Given the description of an element on the screen output the (x, y) to click on. 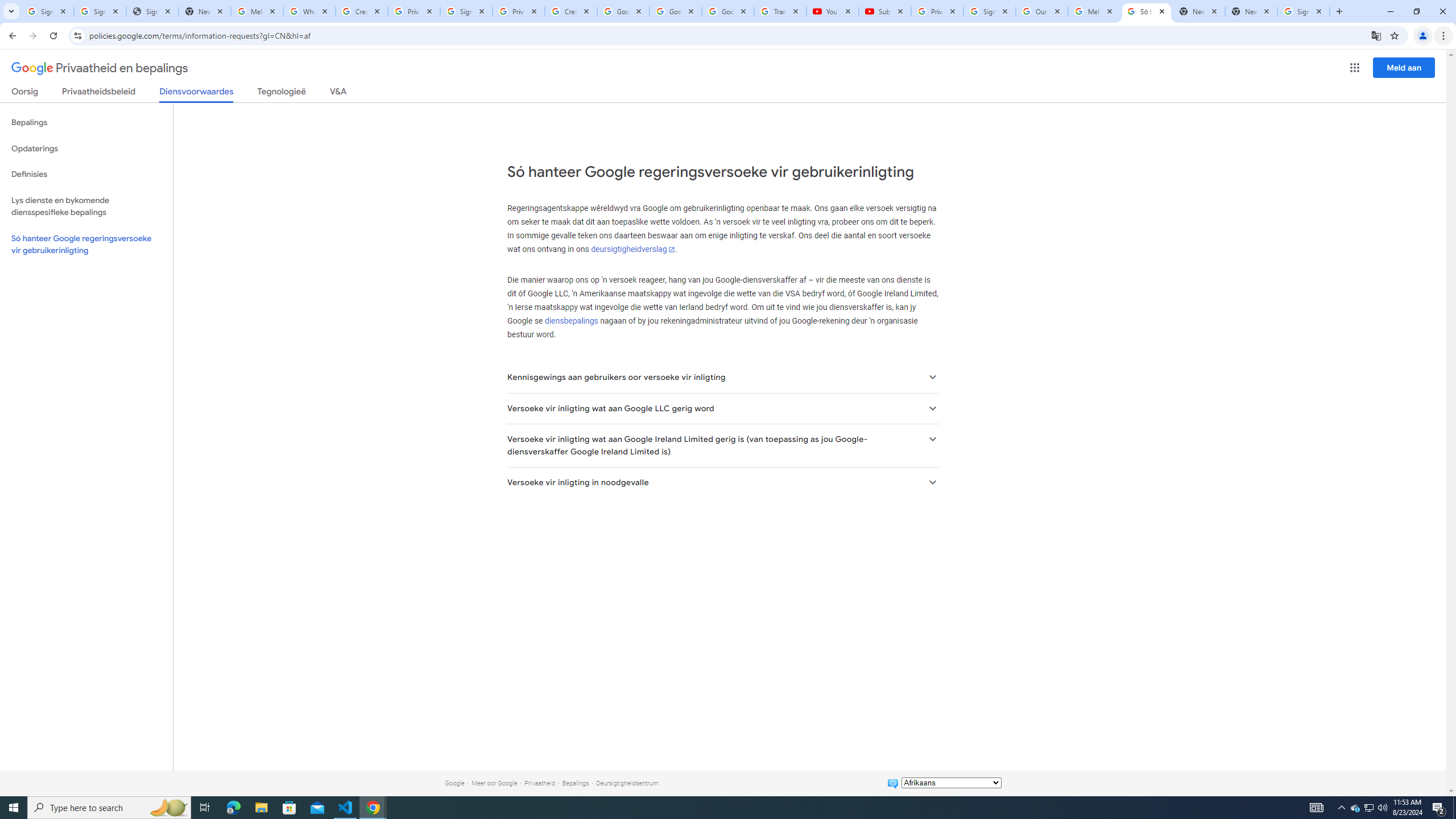
Verander taal: (951, 782)
Sign in - Google Accounts (989, 11)
V&A (337, 93)
Sign in - Google Accounts (99, 11)
Kennisgewings aan gebruikers oor versoeke vir inligting (722, 377)
Privaatheid (539, 783)
